Given the description of an element on the screen output the (x, y) to click on. 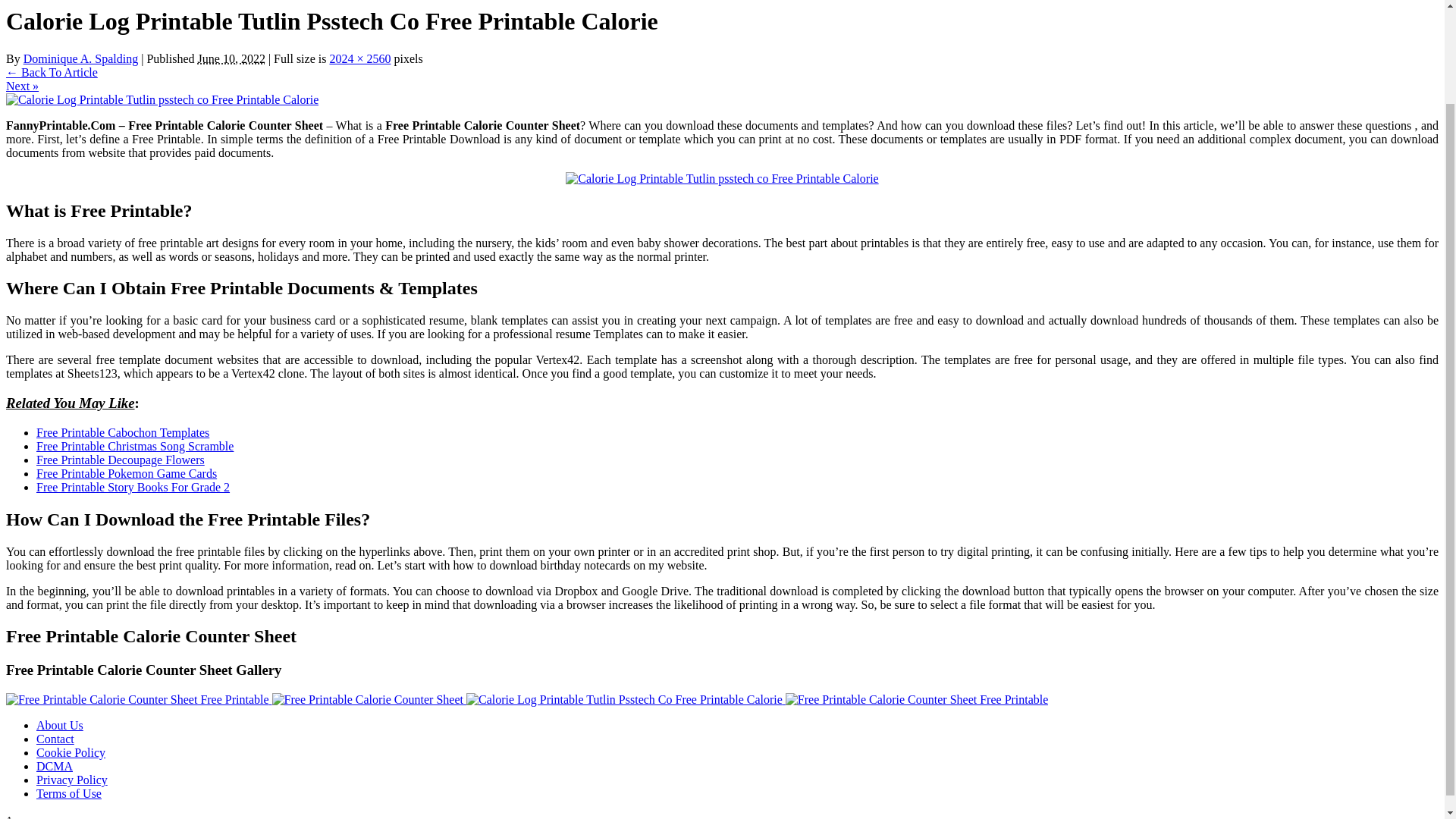
Cookie Policy (70, 752)
Free Printable Calorie Counter Sheet Free Printable (137, 699)
Link to full-size image (359, 58)
Free Printable Pokemon Game Cards (126, 472)
Dominique A. Spalding (80, 58)
Free Printable Calorie Counter Sheet Free Printable (138, 698)
Free Printable Story Books For Grade 2 (133, 486)
DCMA (54, 766)
